Given the description of an element on the screen output the (x, y) to click on. 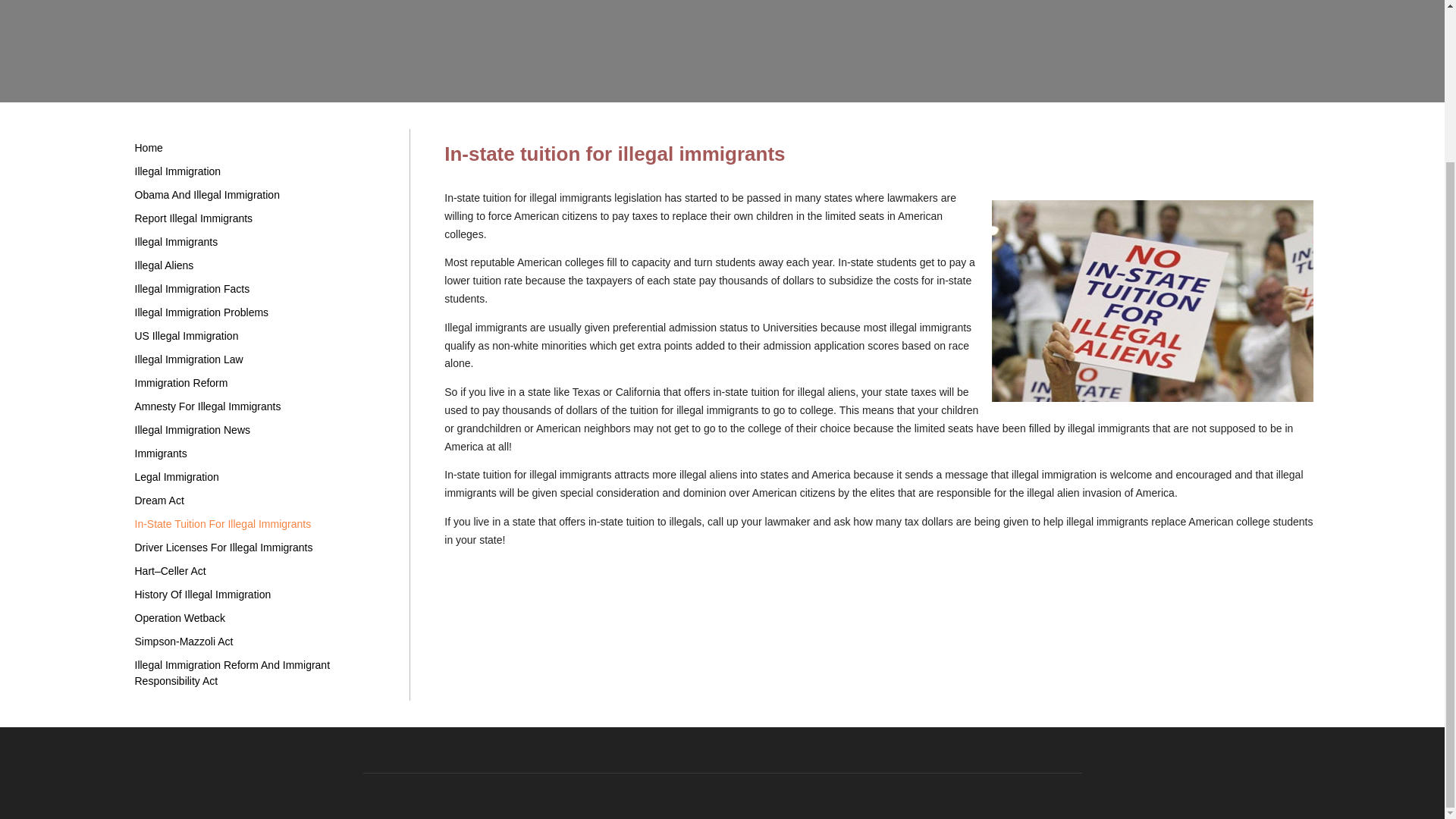
Home (261, 147)
Illegal Immigration Law (261, 359)
Illegal Immigration Problems (261, 312)
in-state tuition for illegal immigrants (1152, 300)
Report Illegal Immigrants (261, 218)
Illegal Immigration Facts (261, 289)
US Illegal Immigration (261, 336)
Obama And Illegal Immigration (261, 195)
Illegal Aliens (261, 265)
Illegal Immigrants (261, 241)
Illegal Immigration (261, 171)
